Given the description of an element on the screen output the (x, y) to click on. 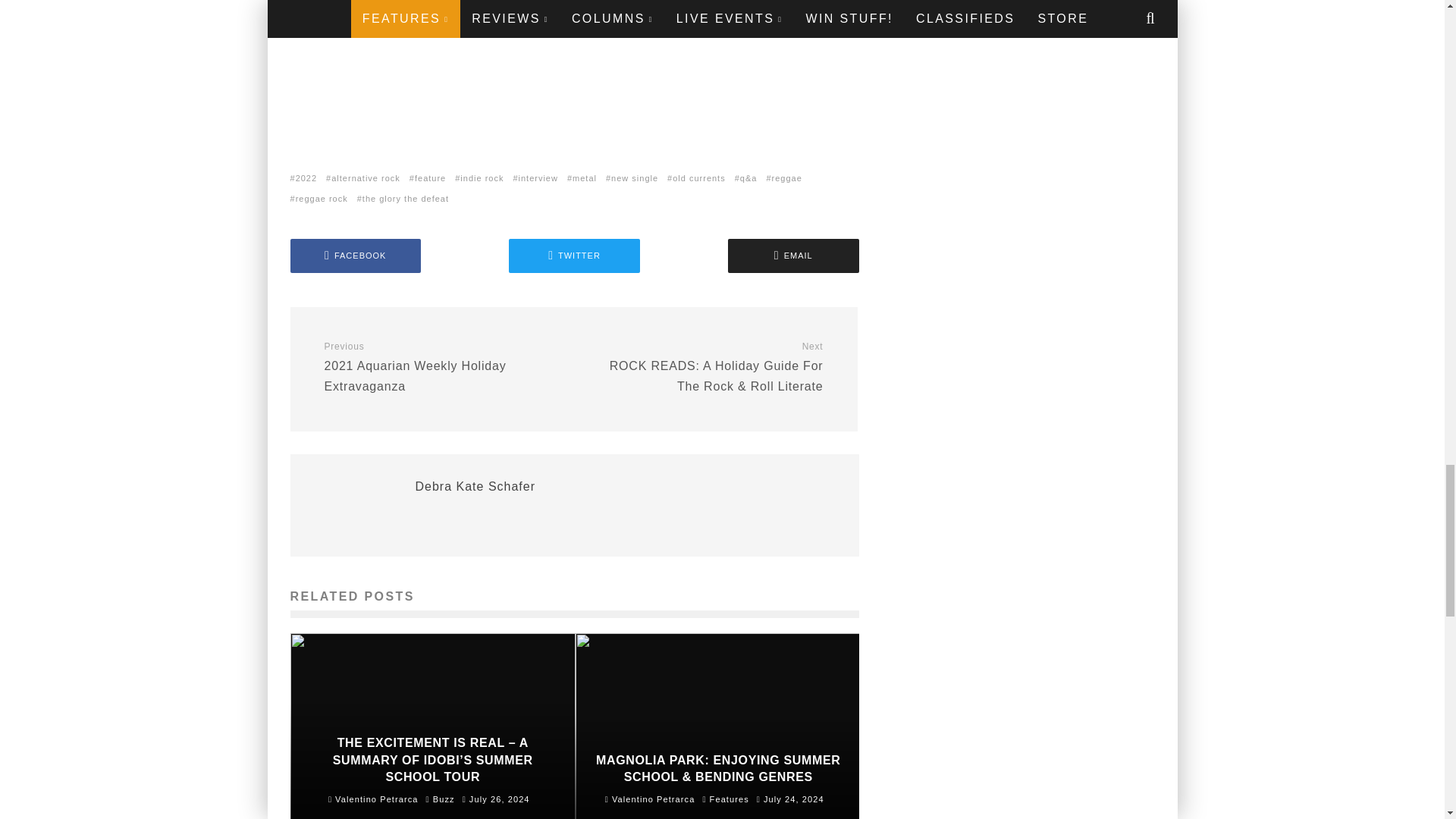
Spotify Embed: Old Currents (574, 69)
